Given the description of an element on the screen output the (x, y) to click on. 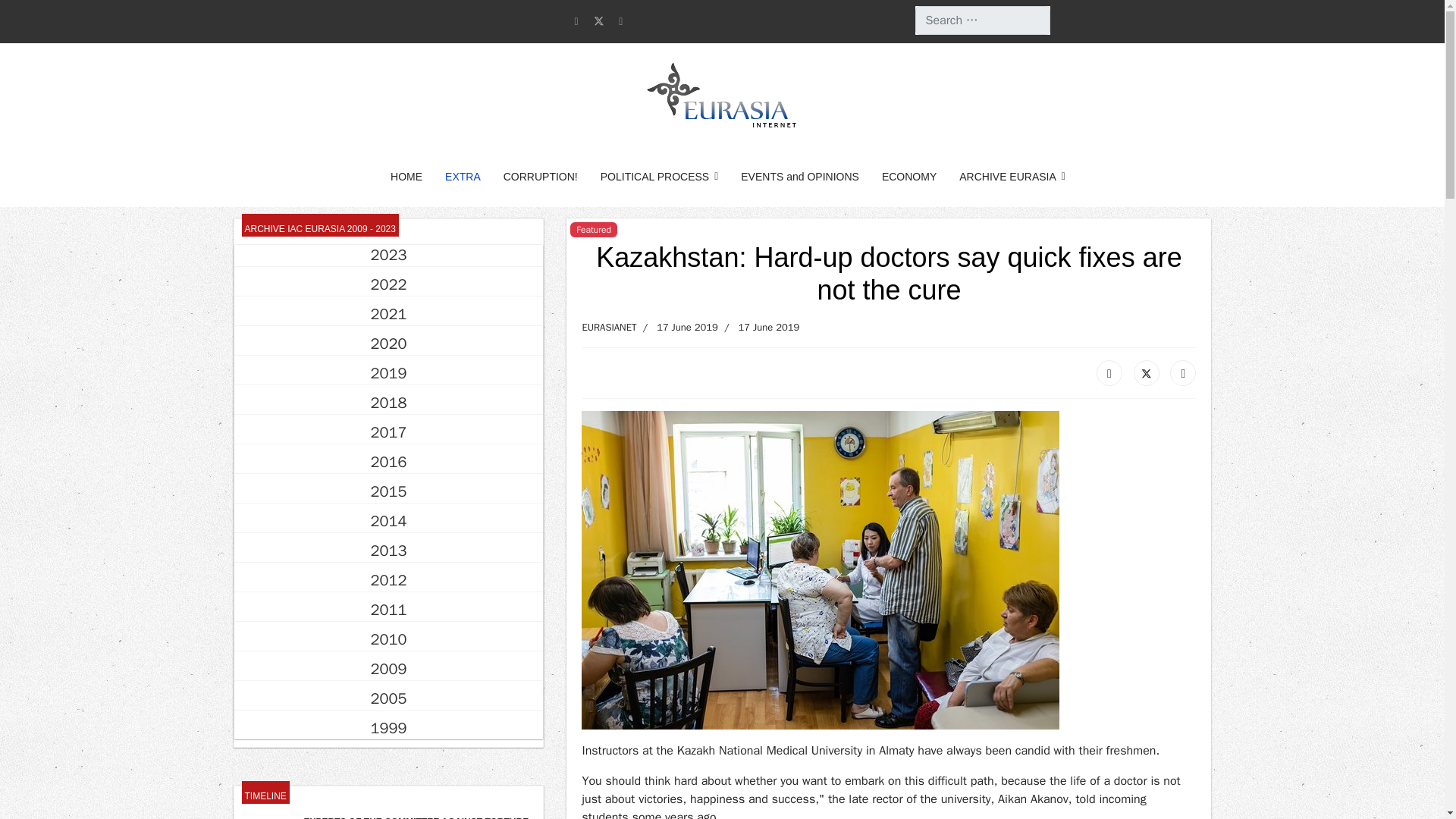
Twitter (1146, 372)
EVENTS and OPINIONS (799, 176)
LinkedIn (1182, 372)
Created: 17 June 2019 (758, 327)
ECONOMY (908, 176)
Published: 17 June 2019 (676, 327)
ARCHIVE EURASIA (1006, 176)
Facebook (1109, 372)
Written by: EURASIANET (608, 327)
EXTRA (462, 176)
CORRUPTION! (540, 176)
POLITICAL PROCESS (659, 176)
HOME (405, 176)
